Given the description of an element on the screen output the (x, y) to click on. 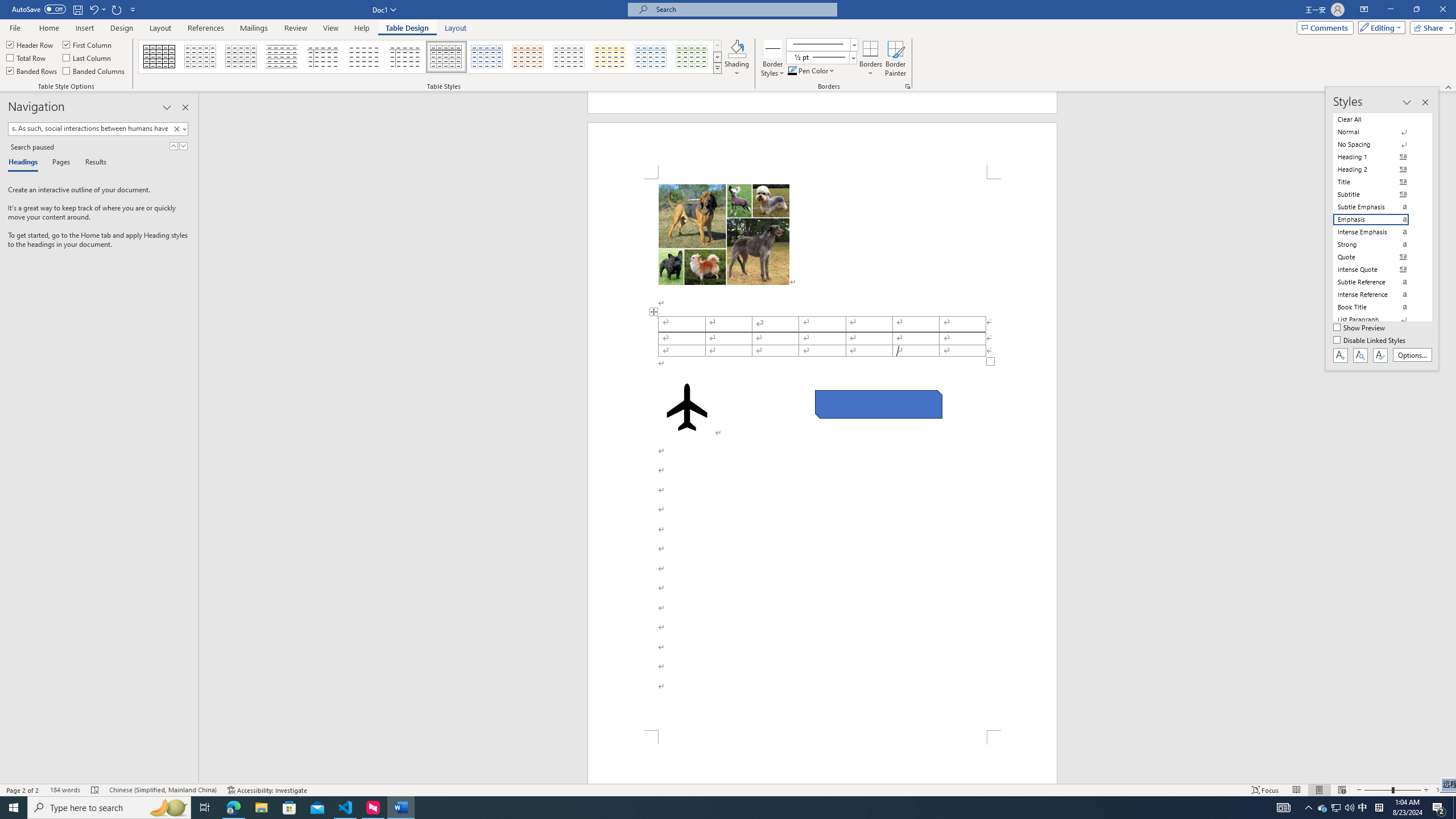
Disable Linked Styles (1370, 340)
Heading 2 (1377, 169)
Quote (1377, 256)
Grid Table 1 Light - Accent 4 (609, 56)
